Given the description of an element on the screen output the (x, y) to click on. 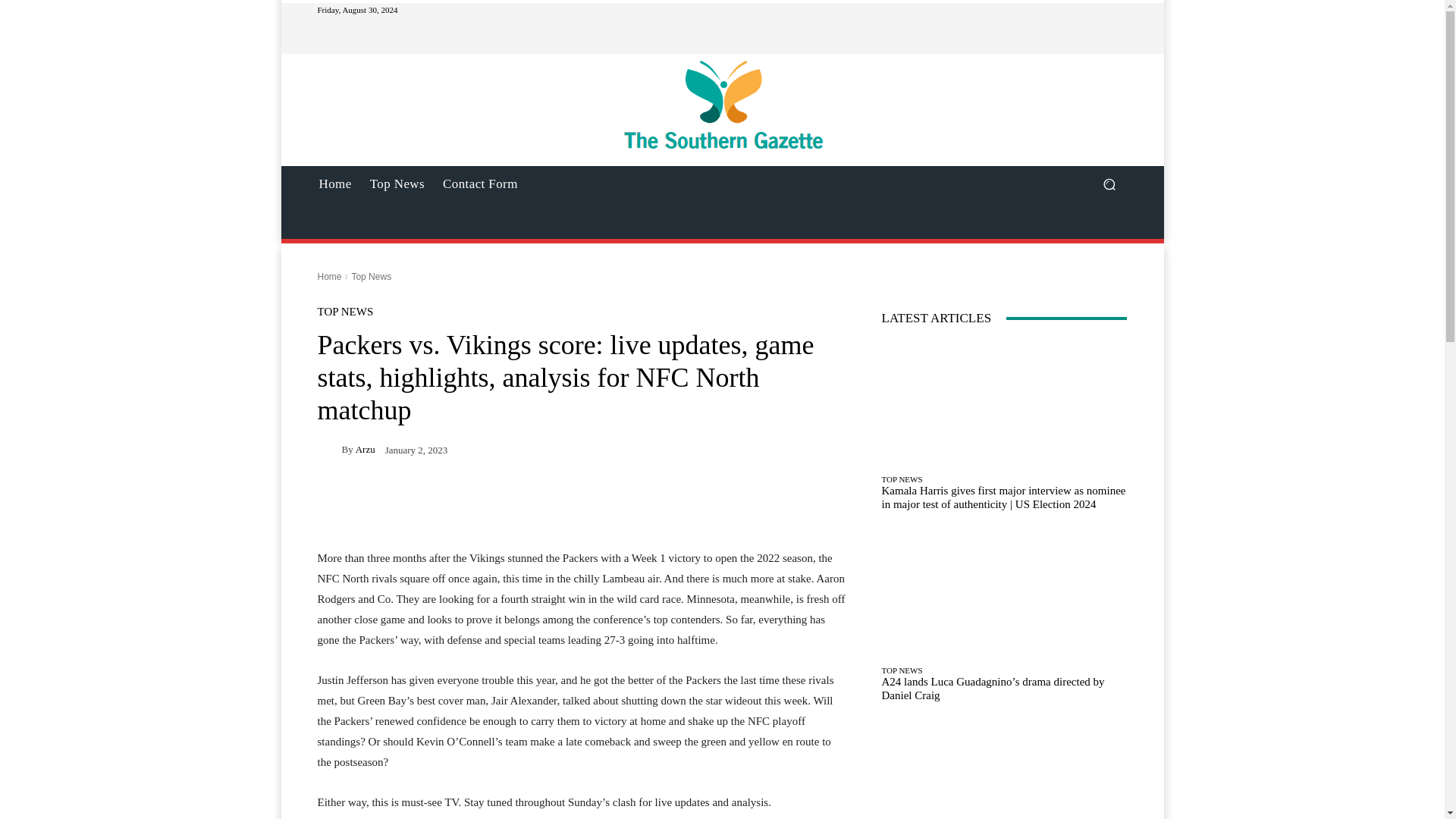
Arzu (365, 449)
View all posts in Top News (370, 276)
Contact Form (480, 184)
Home (328, 276)
Top News (370, 276)
Top News (397, 184)
TOP NEWS (344, 311)
Home (333, 184)
Arzu (328, 449)
